Given the description of an element on the screen output the (x, y) to click on. 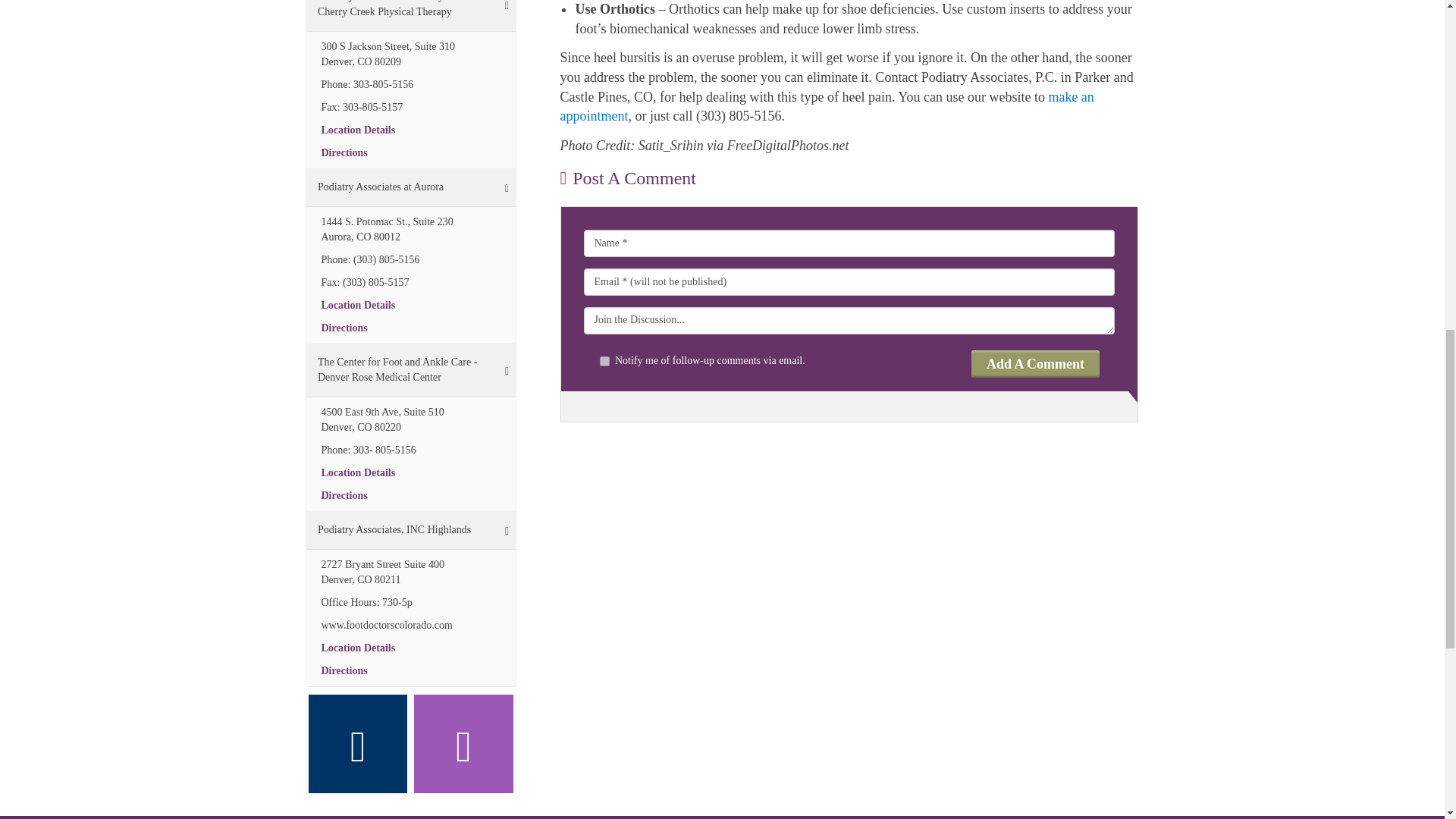
1 (604, 361)
Request an appointment online. (826, 106)
